Given the description of an element on the screen output the (x, y) to click on. 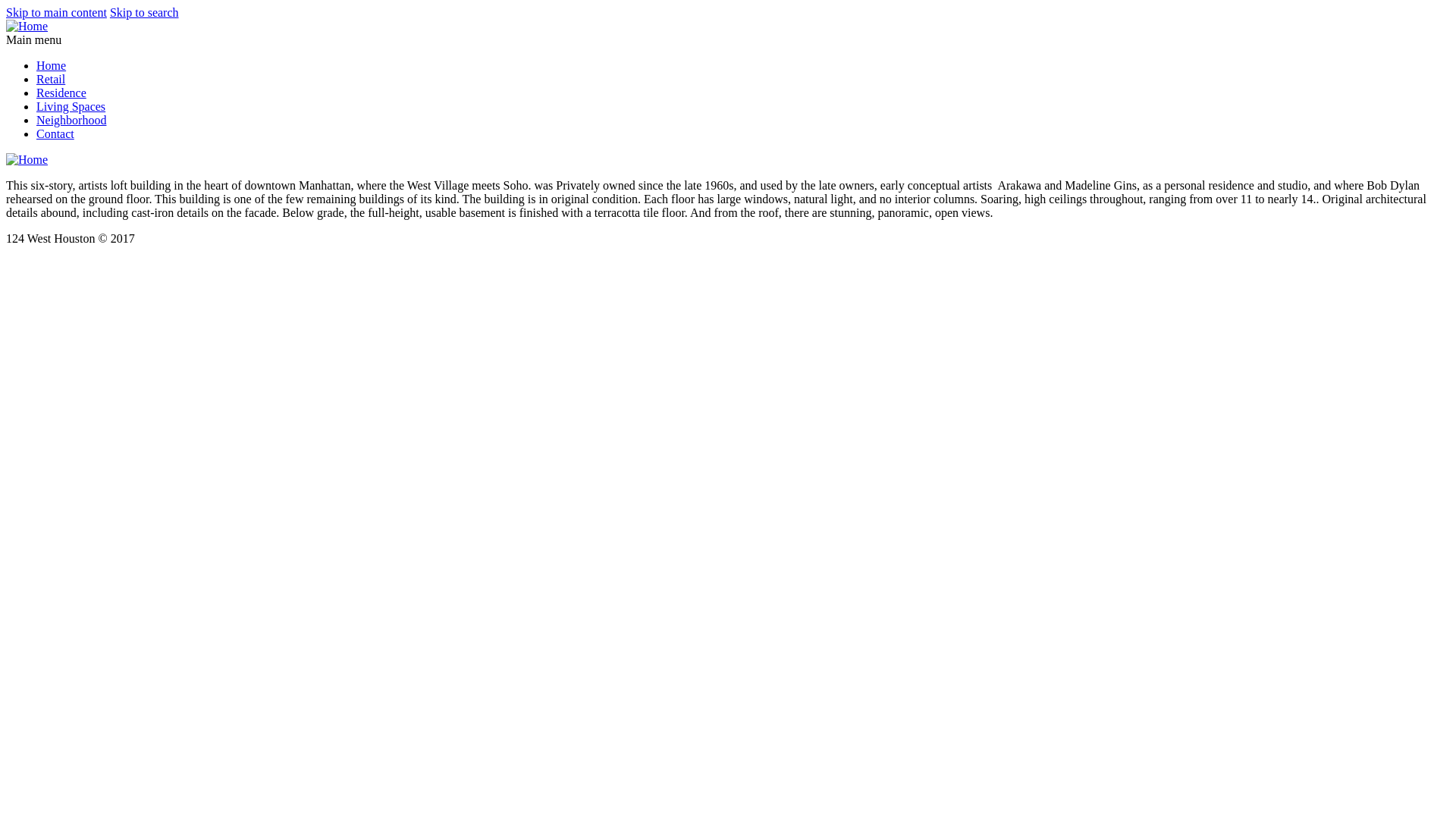
Neighborhood Element type: text (71, 119)
Home Element type: text (50, 65)
Retail Element type: text (50, 78)
Skip to search Element type: text (143, 12)
Skip to main content Element type: text (56, 12)
Residence Element type: text (61, 92)
Contact Element type: text (55, 133)
Home Element type: hover (26, 25)
Living Spaces Element type: text (70, 106)
